Given the description of an element on the screen output the (x, y) to click on. 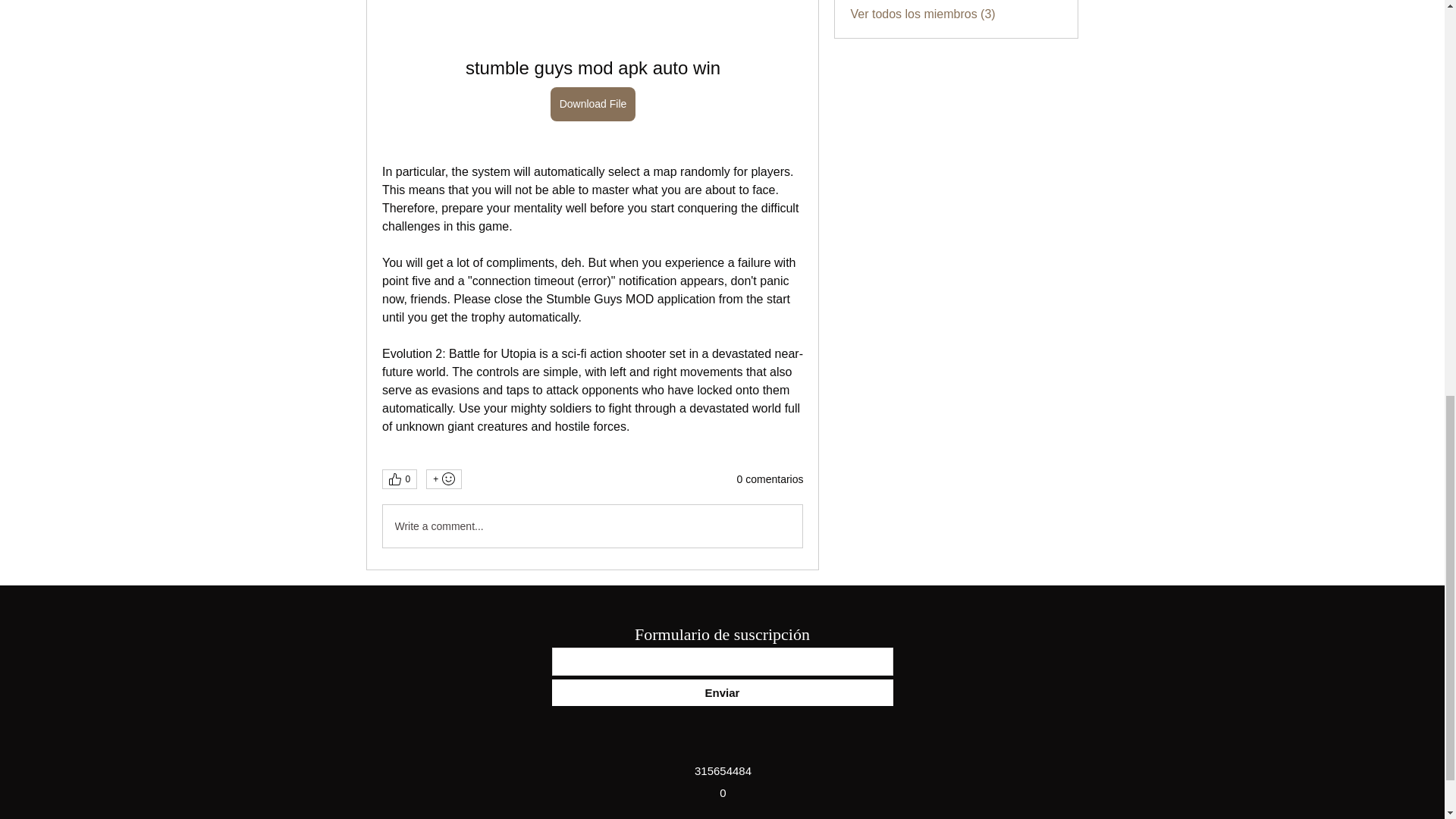
Download File (592, 103)
0 comentarios (769, 479)
Write a comment... (591, 526)
